Given the description of an element on the screen output the (x, y) to click on. 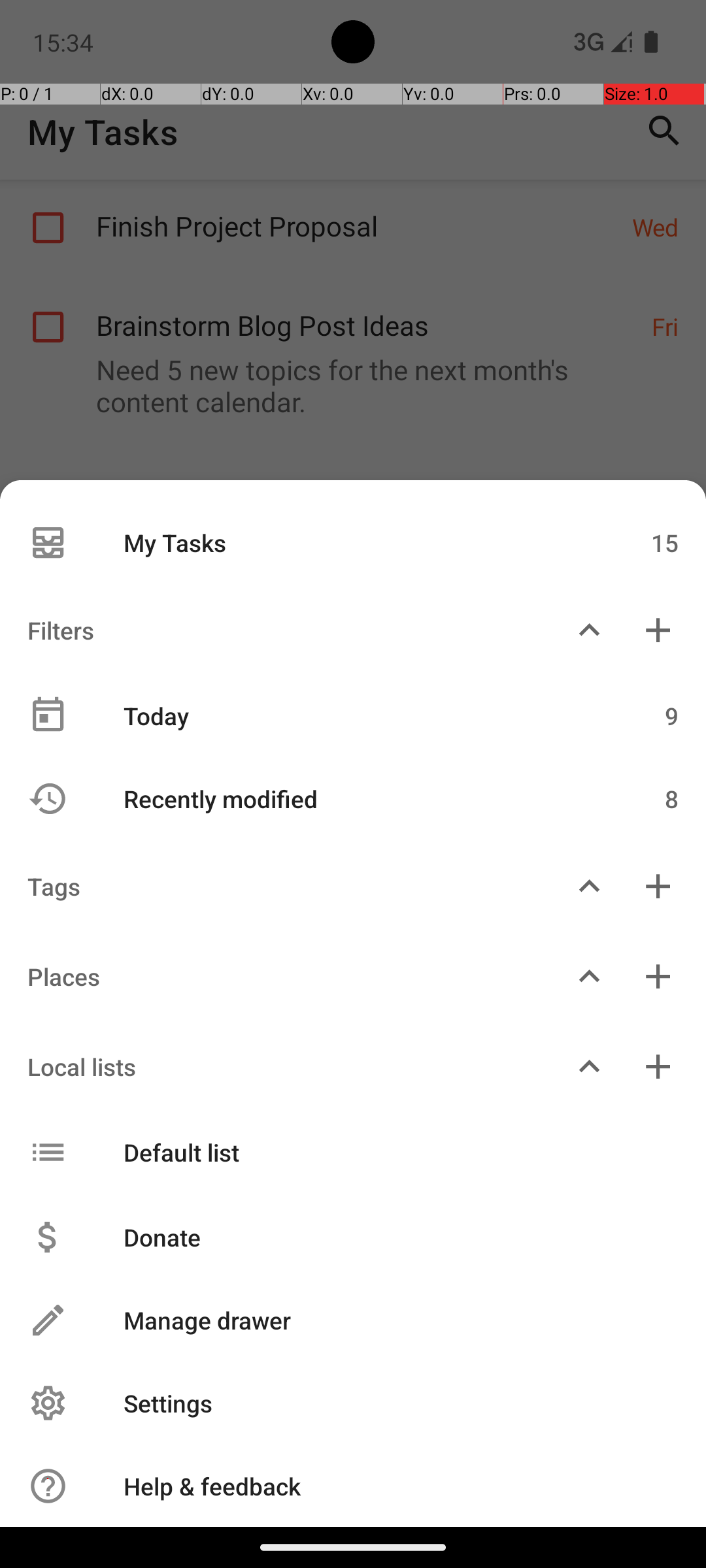
My Tasks Element type: android.widget.CheckedTextView (344, 542)
Filters Element type: android.widget.TextView (277, 630)
Recently modified Element type: android.widget.CheckedTextView (344, 798)
Tags Element type: android.widget.TextView (277, 886)
Places Element type: android.widget.TextView (277, 976)
Local lists Element type: android.widget.TextView (277, 1066)
Default list Element type: android.widget.CheckedTextView (344, 1151)
Donate Element type: android.widget.TextView (387, 1236)
Manage drawer Element type: android.widget.TextView (387, 1319)
